Given the description of an element on the screen output the (x, y) to click on. 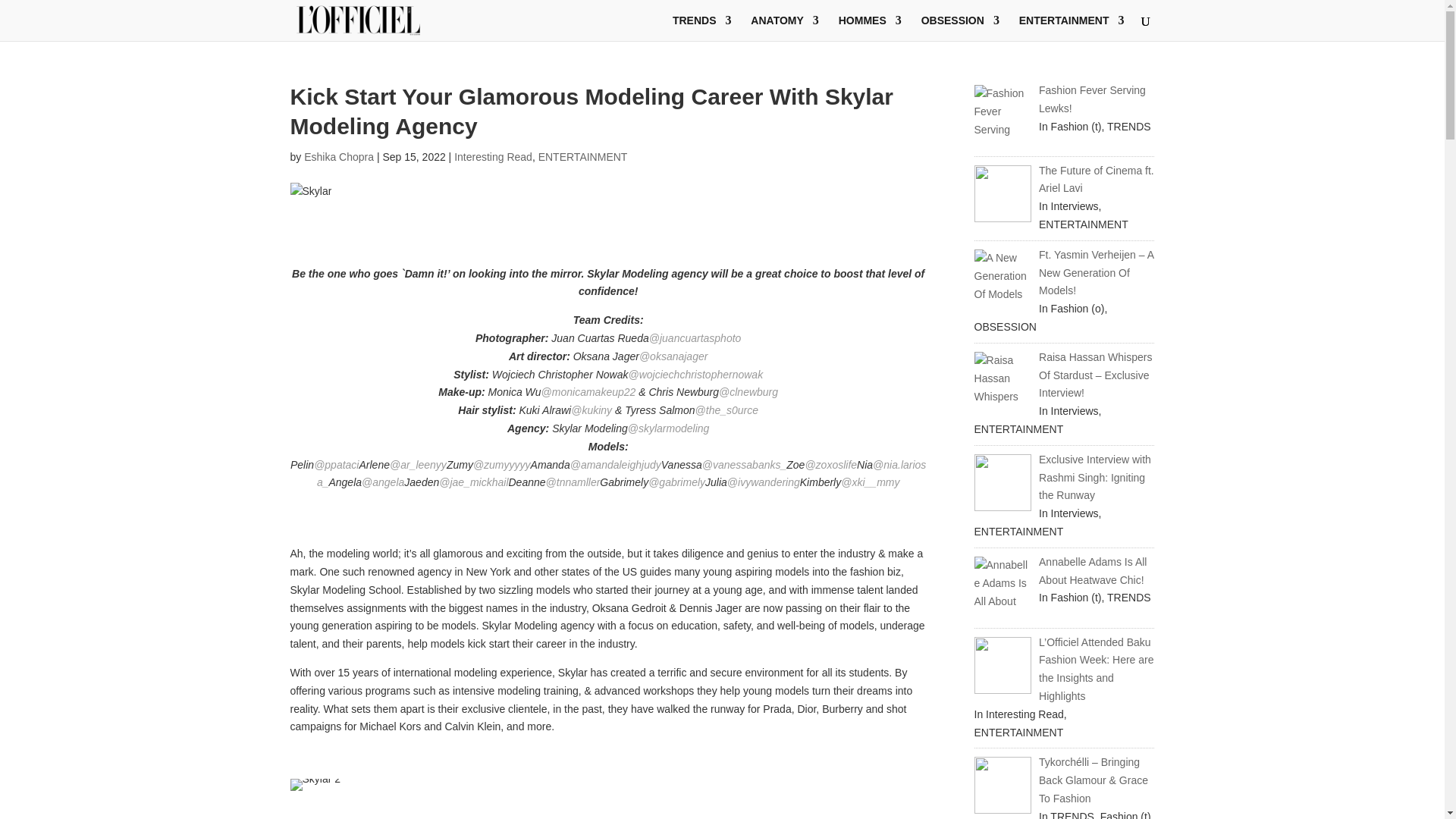
Posts by Eshika Chopra (339, 156)
TRENDS (702, 27)
ENTERTAINMENT (1071, 27)
Eshika Chopra (339, 156)
ENTERTAINMENT (582, 156)
HOMMES (869, 27)
OBSESSION (959, 27)
Interesting Read (493, 156)
ANATOMY (784, 27)
